Given the description of an element on the screen output the (x, y) to click on. 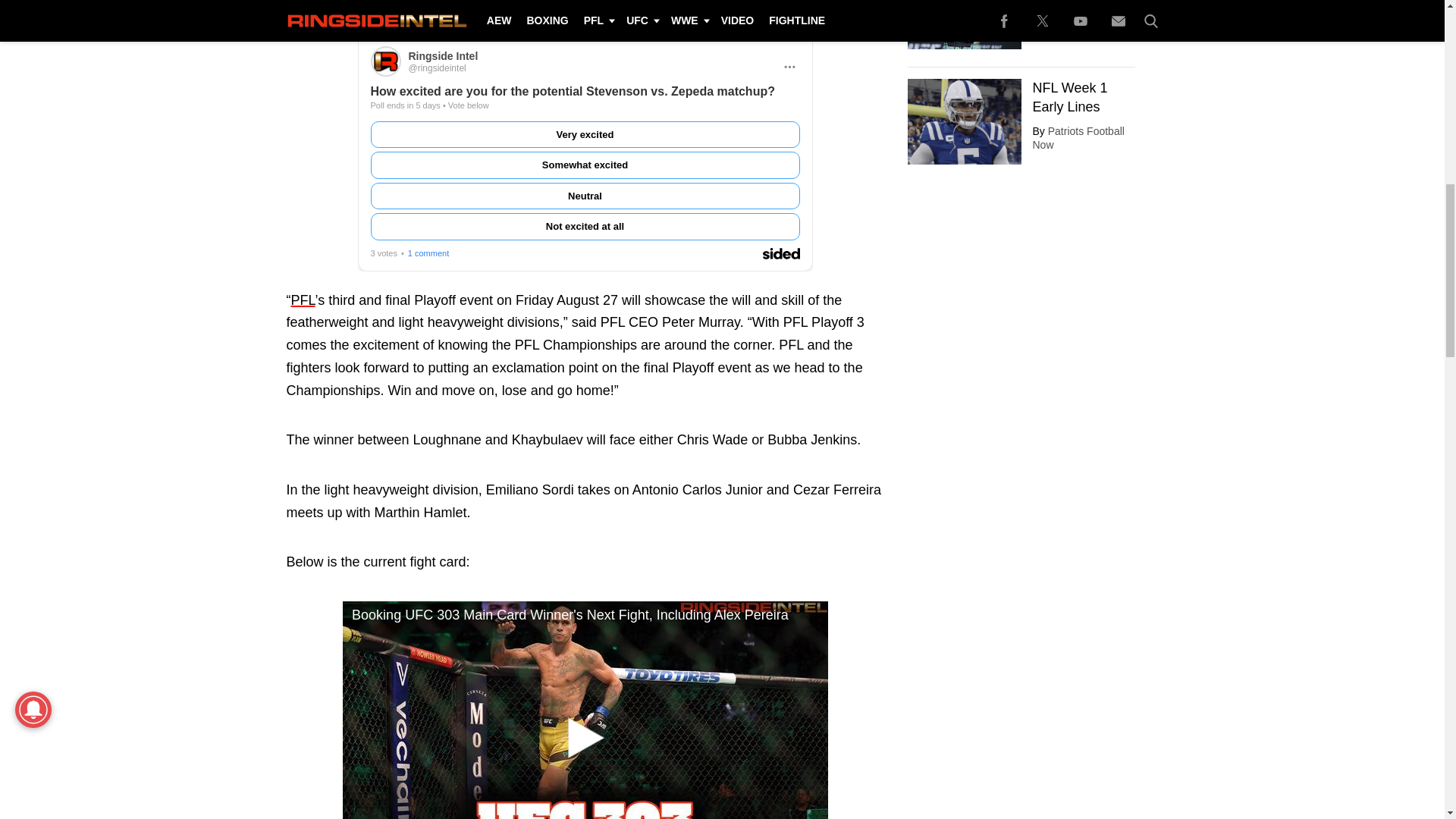
Play Video (584, 737)
PFL (303, 299)
Play Video (585, 710)
PFL (303, 299)
